Given the description of an element on the screen output the (x, y) to click on. 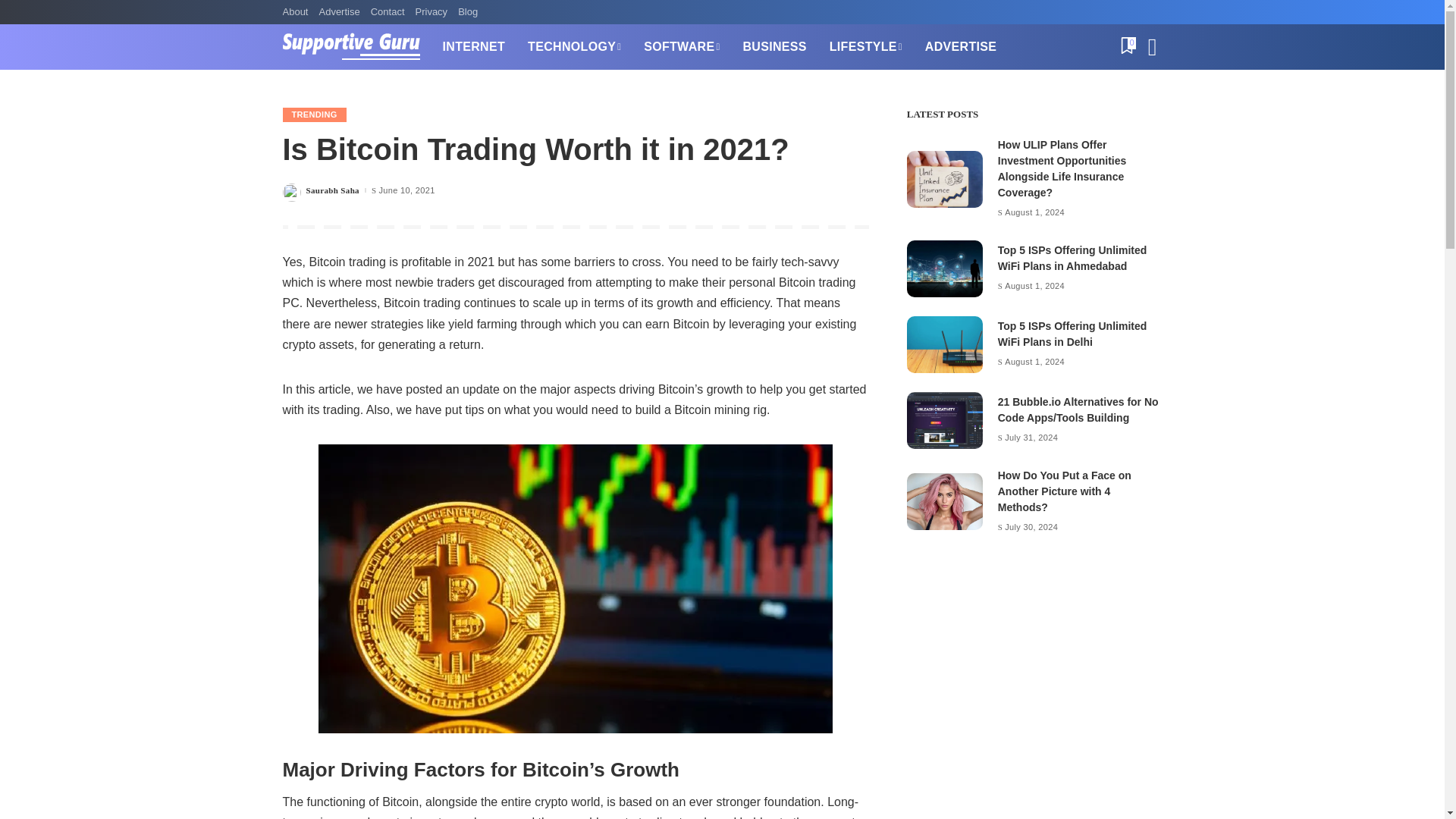
BUSINESS (773, 46)
Privacy (430, 11)
SOFTWARE (680, 46)
Advertise (339, 11)
LIFESTYLE (866, 46)
TECHNOLOGY (573, 46)
About (297, 11)
Contact (387, 11)
Supportive Guru (350, 46)
INTERNET (473, 46)
Blog (467, 11)
